Given the description of an element on the screen output the (x, y) to click on. 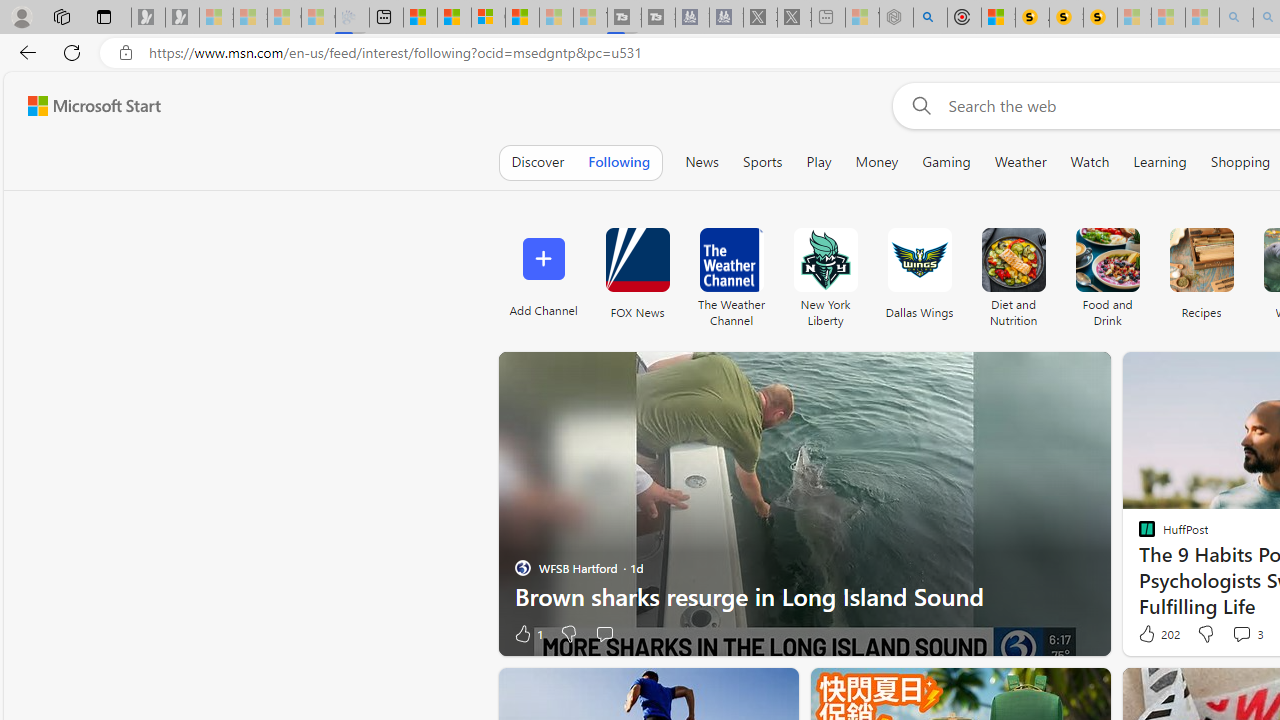
Nordace - Summer Adventures 2024 - Sleeping (895, 17)
Michelle Starr, Senior Journalist at ScienceAlert (1100, 17)
